Given the description of an element on the screen output the (x, y) to click on. 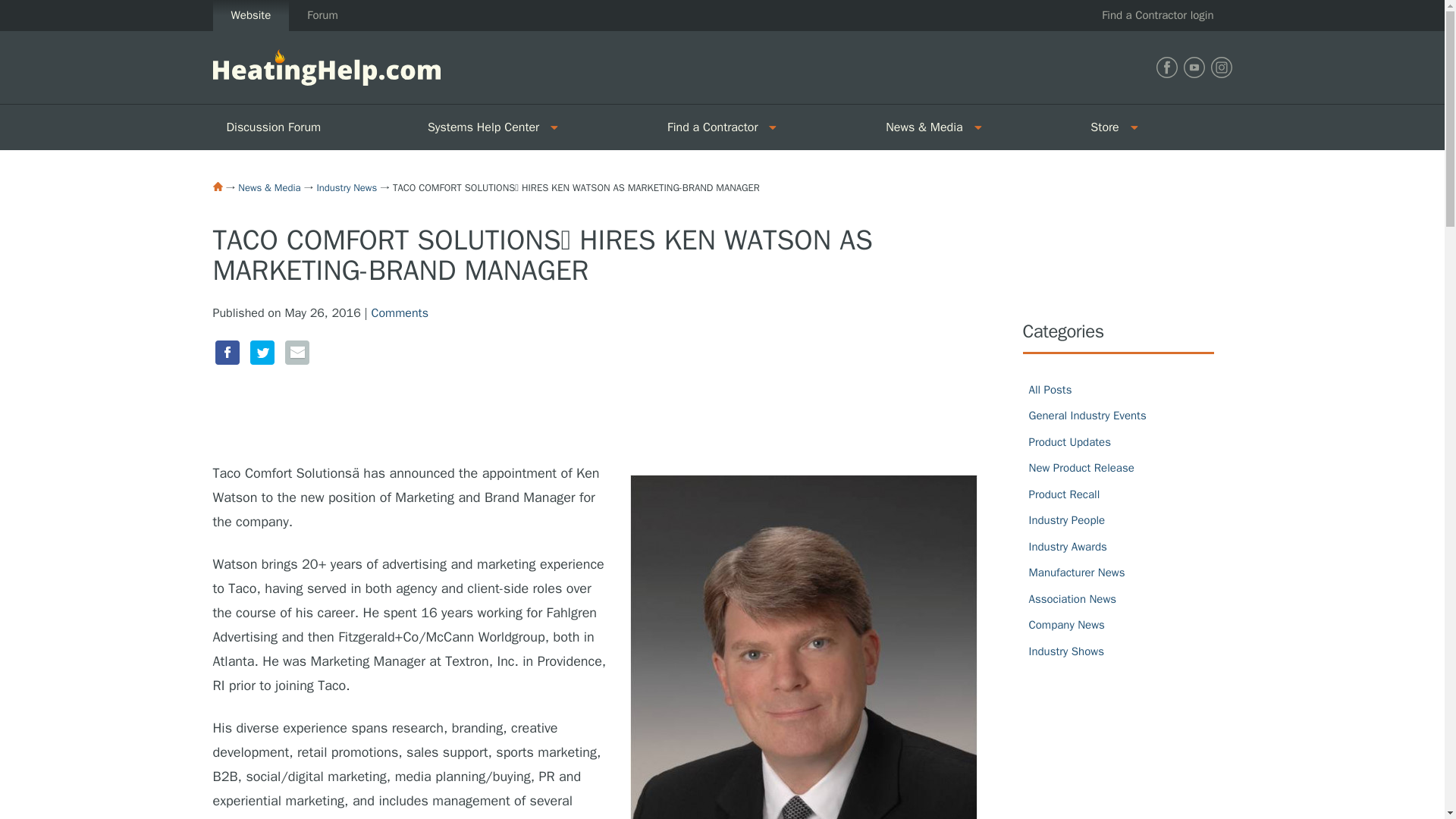
Find Heating Help on Facebook (1166, 66)
Home (217, 185)
Find Heating Help on Instagram (1220, 66)
Find a Contractor login (1157, 15)
Skip to Content (40, 9)
Systems Help Center (478, 126)
Forum (321, 15)
Find Heating Help on Youtube (1193, 66)
Discussion Forum (312, 126)
Website (250, 15)
